Given the description of an element on the screen output the (x, y) to click on. 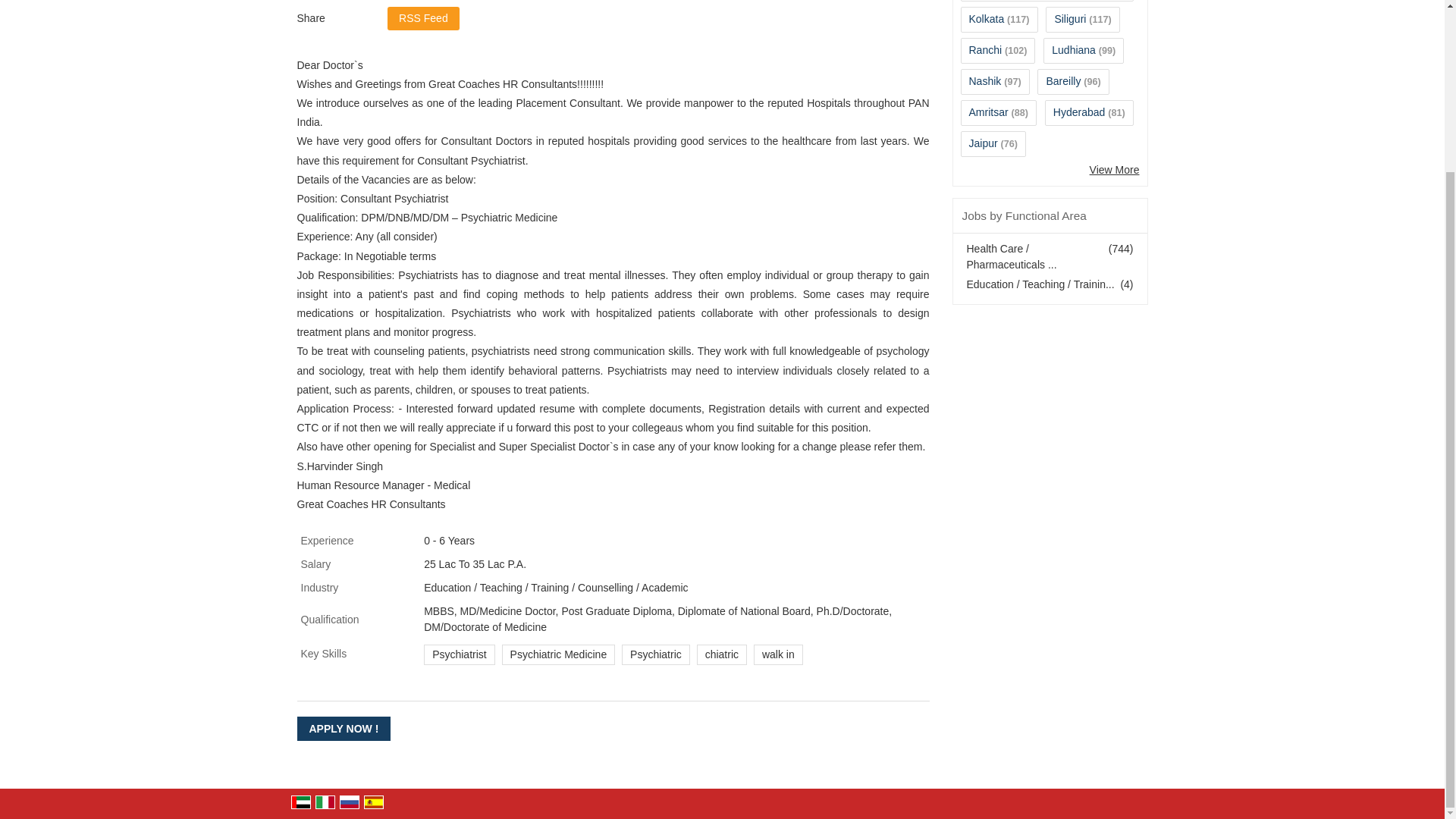
RSS Feed (423, 18)
APPLY NOW ! (344, 728)
APPLY NOW ! (344, 728)
